Given the description of an element on the screen output the (x, y) to click on. 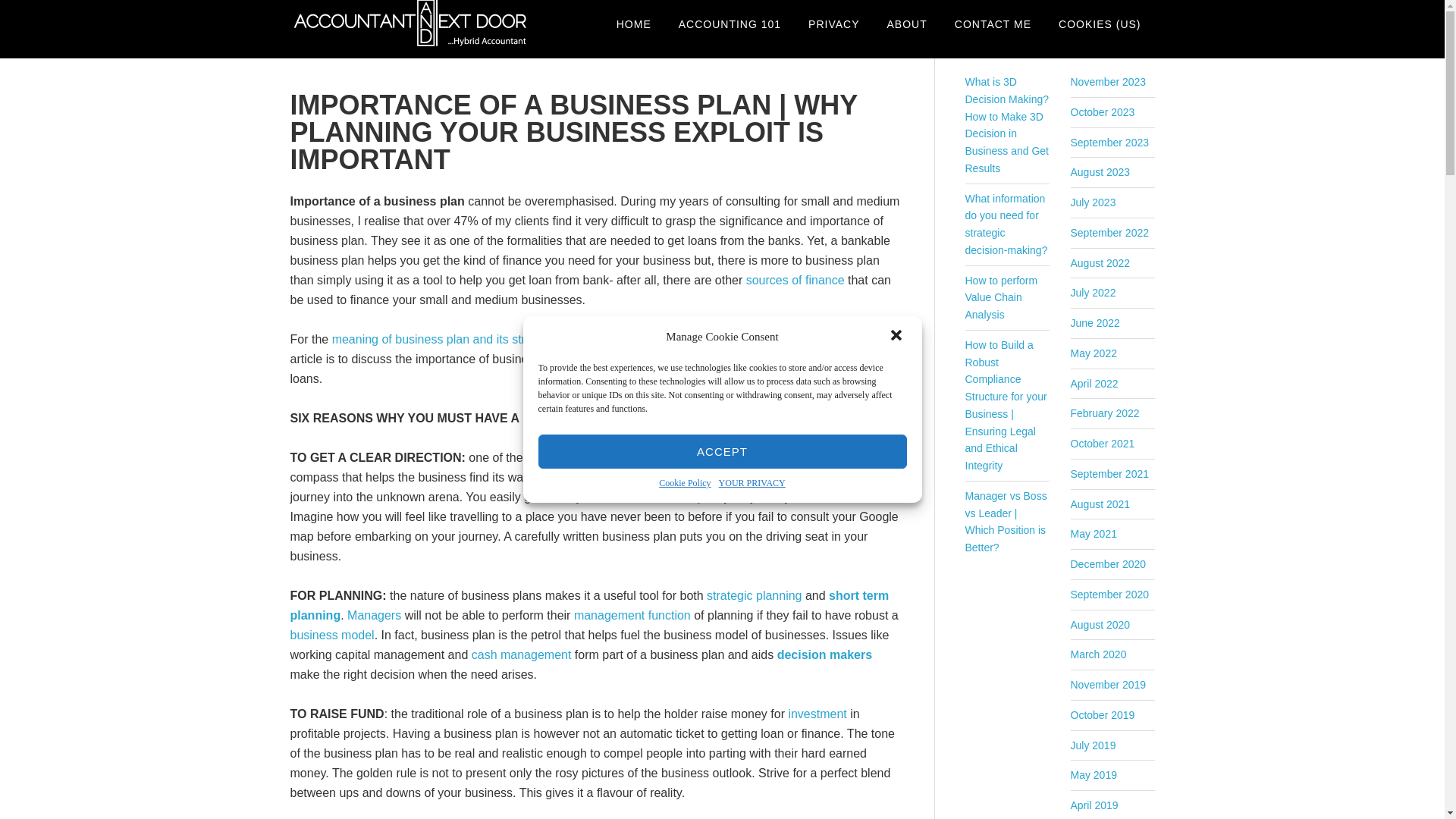
YOUR PRIVACY (752, 483)
strategic planning (754, 594)
PRIVACY (833, 24)
decision makers (824, 654)
success of our business (732, 358)
Accounting 101 Articles (729, 24)
meaning of business plan and its structure (445, 338)
Cookie Policy (684, 483)
management function (631, 615)
short term planning (588, 604)
CONTACT ME (992, 24)
ACCOUNTING 101 (729, 24)
ABOUT (906, 24)
